Given the description of an element on the screen output the (x, y) to click on. 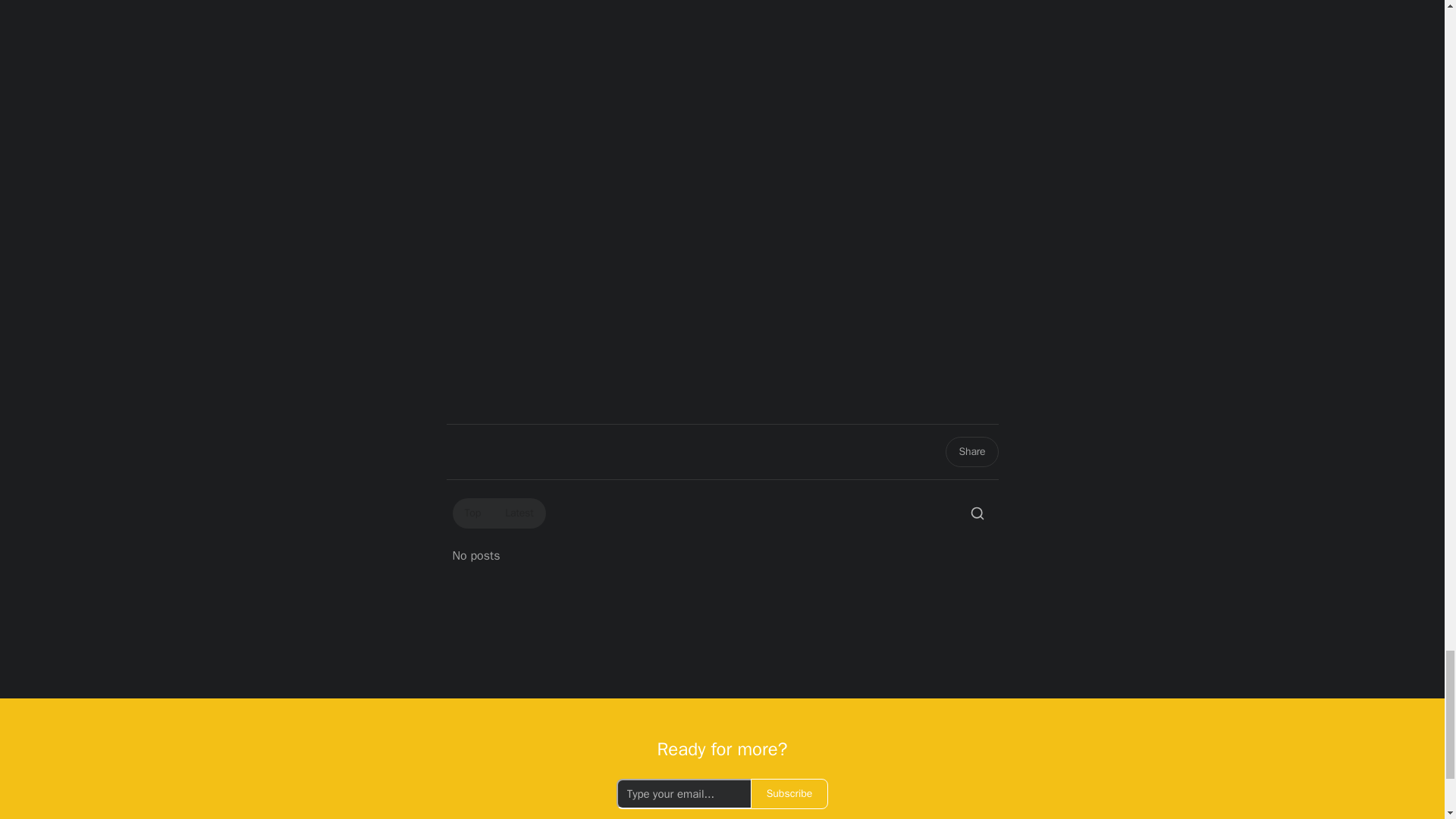
Top (471, 513)
Share (970, 451)
